Given the description of an element on the screen output the (x, y) to click on. 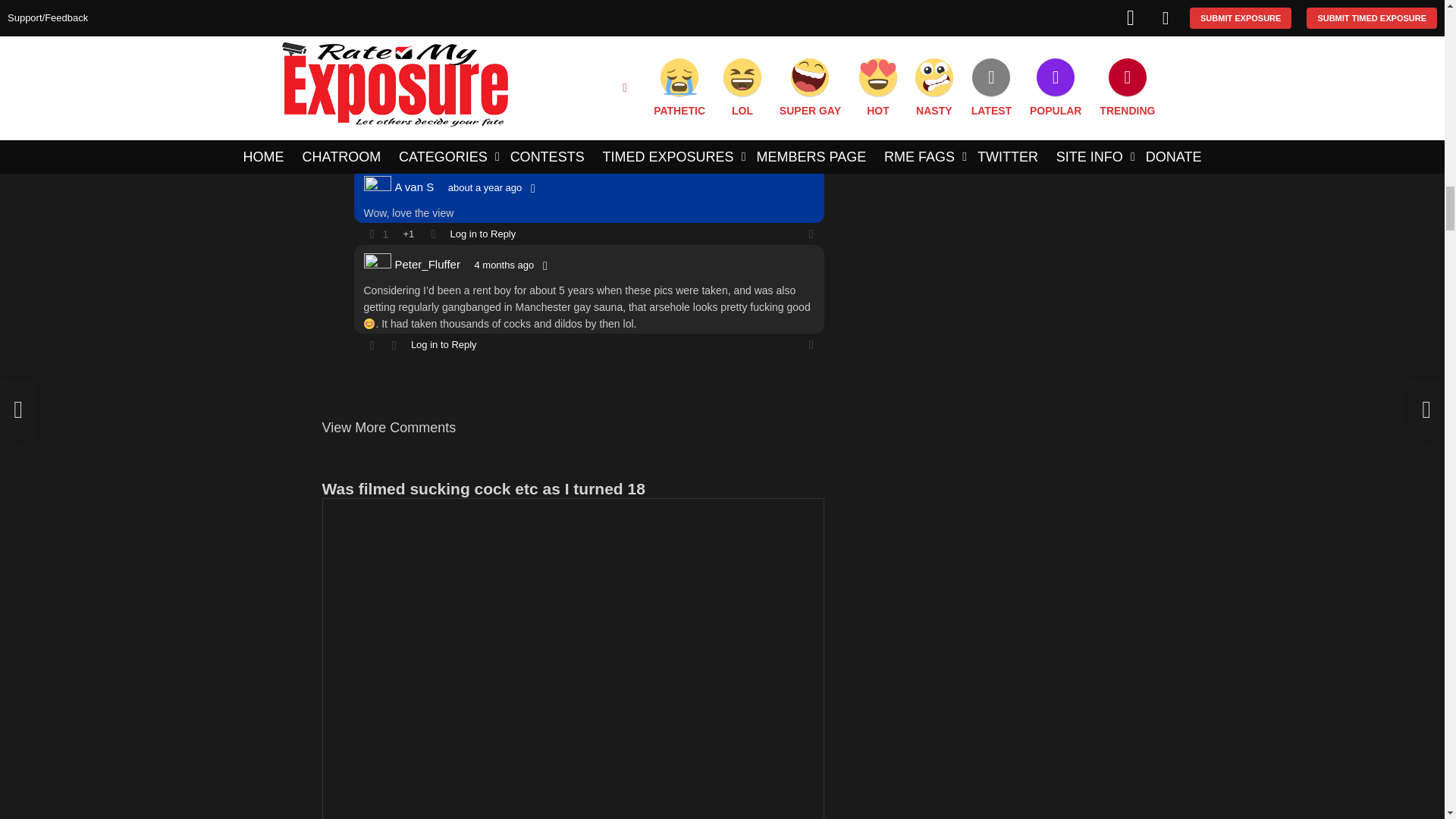
Expand All Replies (596, 149)
Collapse All Replies (666, 149)
